Given the description of an element on the screen output the (x, y) to click on. 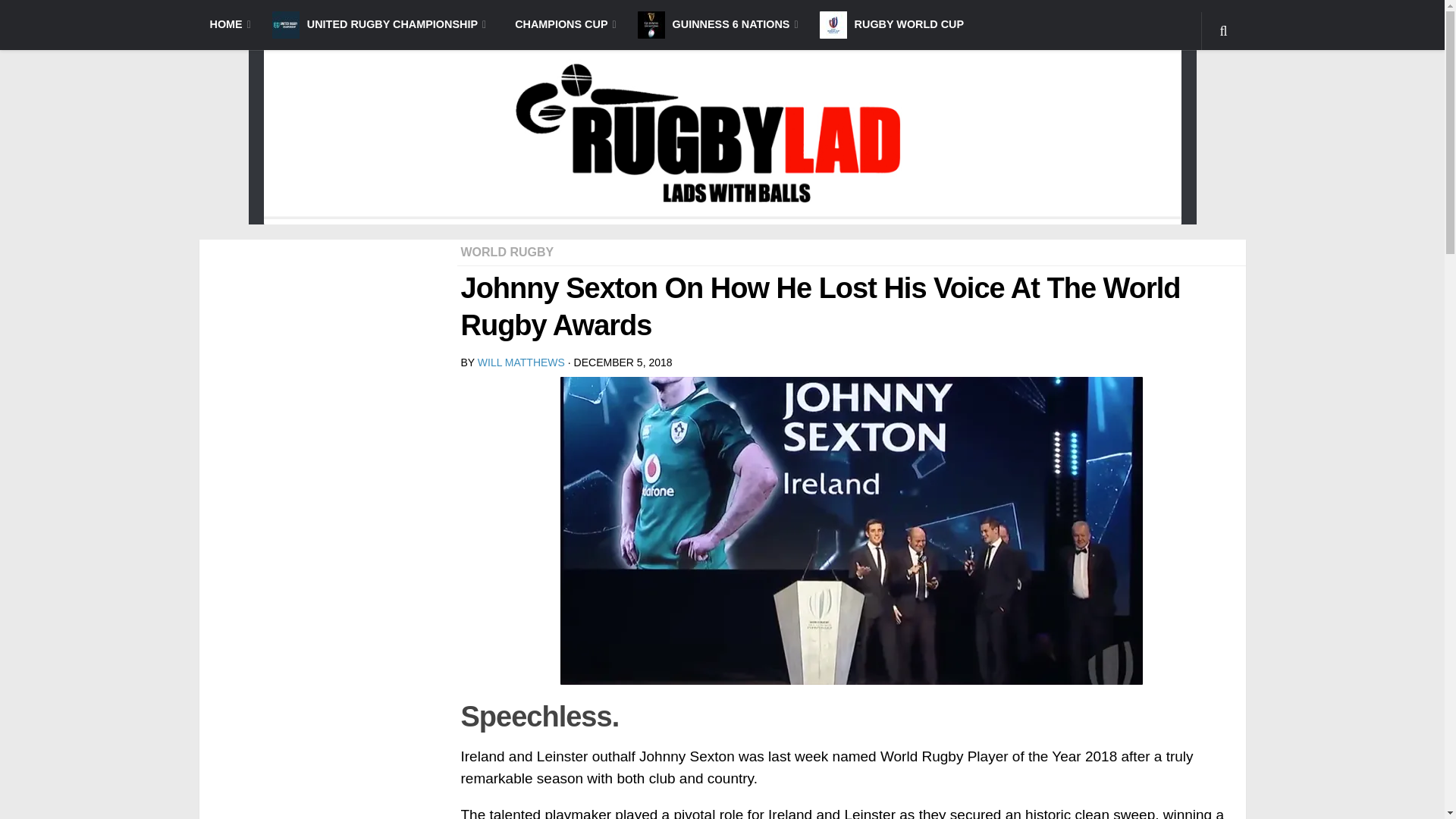
GUINNESS 6 NATIONS (718, 24)
UNITED RUGBY CHAMPIONSHIP (379, 24)
RUGBY WORLD CUP (891, 24)
HOME (229, 23)
CHAMPIONS CUP (561, 23)
WILL MATTHEWS (520, 362)
Posts by Will Matthews (520, 362)
WORLD RUGBY (507, 251)
